Given the description of an element on the screen output the (x, y) to click on. 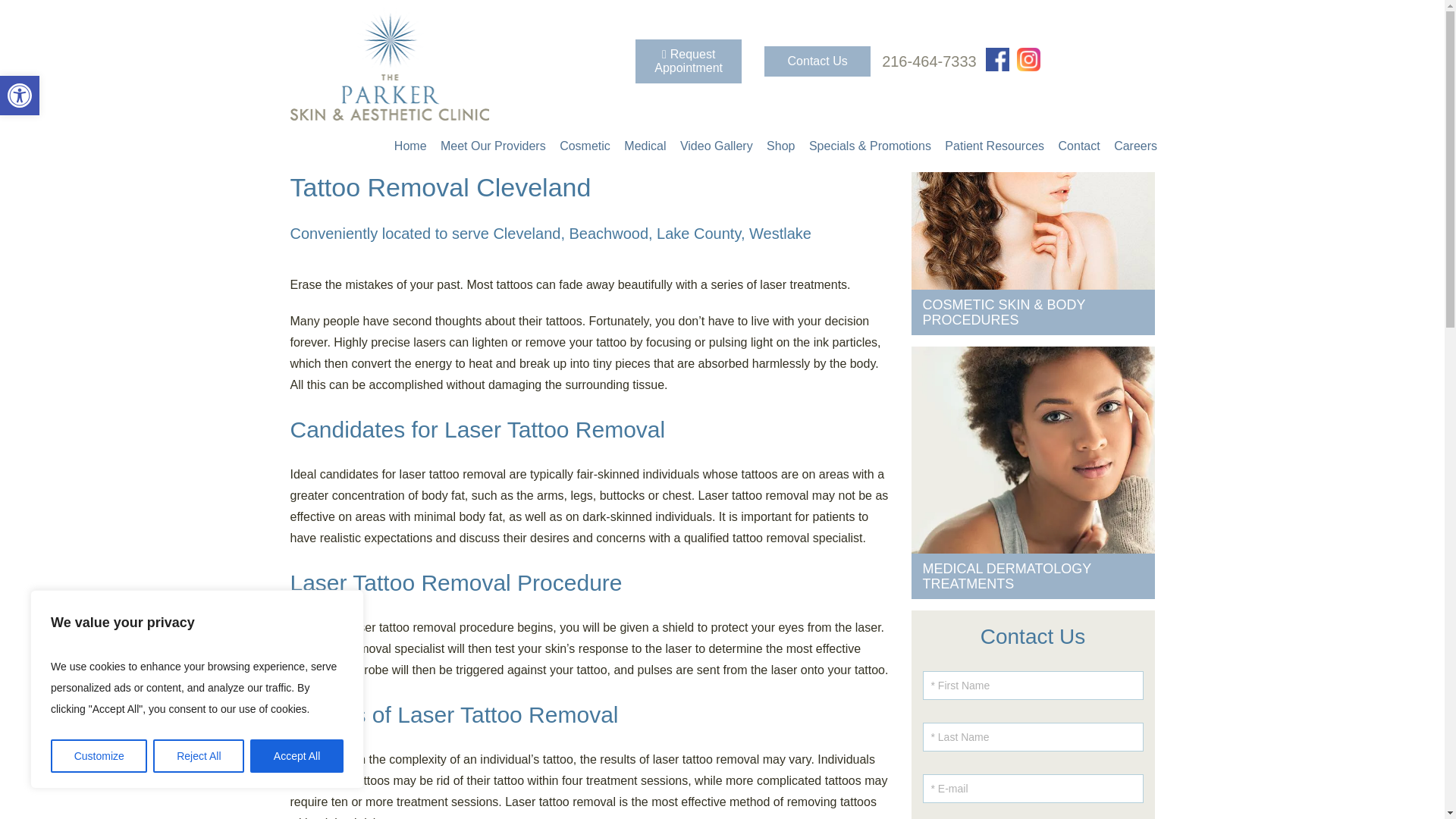
Reject All (198, 756)
Customize (98, 756)
Request Appointment (687, 61)
216-464-7333 (929, 61)
Accept All (296, 756)
Meet Our Providers (493, 145)
Accessibility Tools (19, 95)
Accessibility Tools (19, 95)
Contact Us (19, 95)
